Given the description of an element on the screen output the (x, y) to click on. 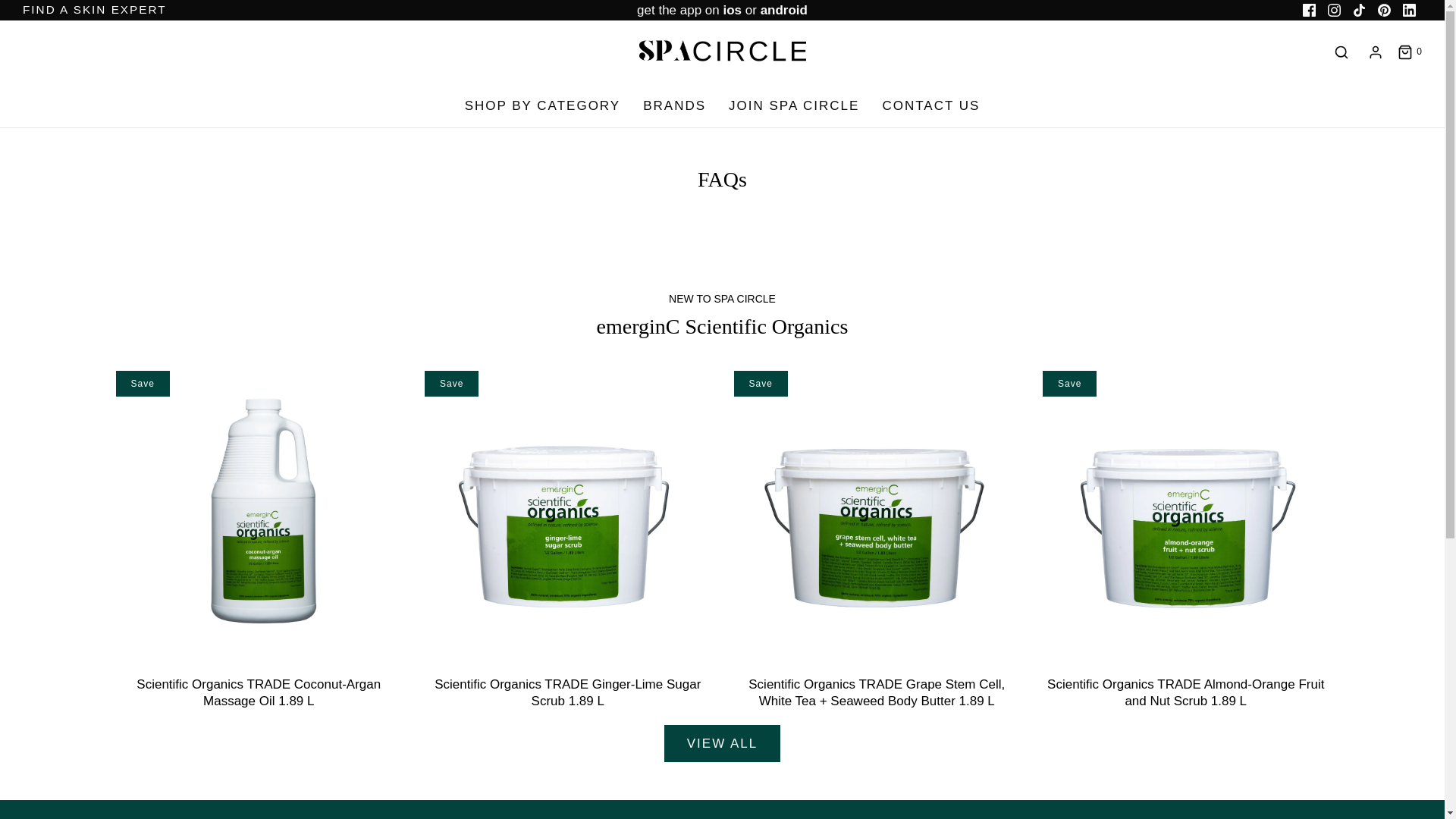
ios Element type: text (731, 10)
Search Element type: hover (1341, 51)
0 Element type: text (1408, 51)
Log in Element type: hover (1375, 51)
VIEW ALL Element type: text (722, 743)
Scientific Organics TRADE Coconut-Argan Massage Oil 1.89 L Element type: hover (258, 513)
FIND A SKIN EXPERT Element type: text (94, 9)
android Element type: text (783, 10)
SHOP BY CATEGORY Element type: text (542, 105)
JOIN SPA CIRCLE Element type: text (793, 105)
Scientific Organics TRADE Ginger-Lime Sugar Scrub 1.89 L Element type: text (567, 692)
BRANDS Element type: text (674, 105)
Scientific Organics TRADE Coconut-Argan Massage Oil 1.89 L Element type: text (258, 692)
Scientific Organics TRADE Ginger-Lime Sugar Scrub 1.89 L Element type: hover (567, 513)
CONTACT US Element type: text (930, 105)
